Given the description of an element on the screen output the (x, y) to click on. 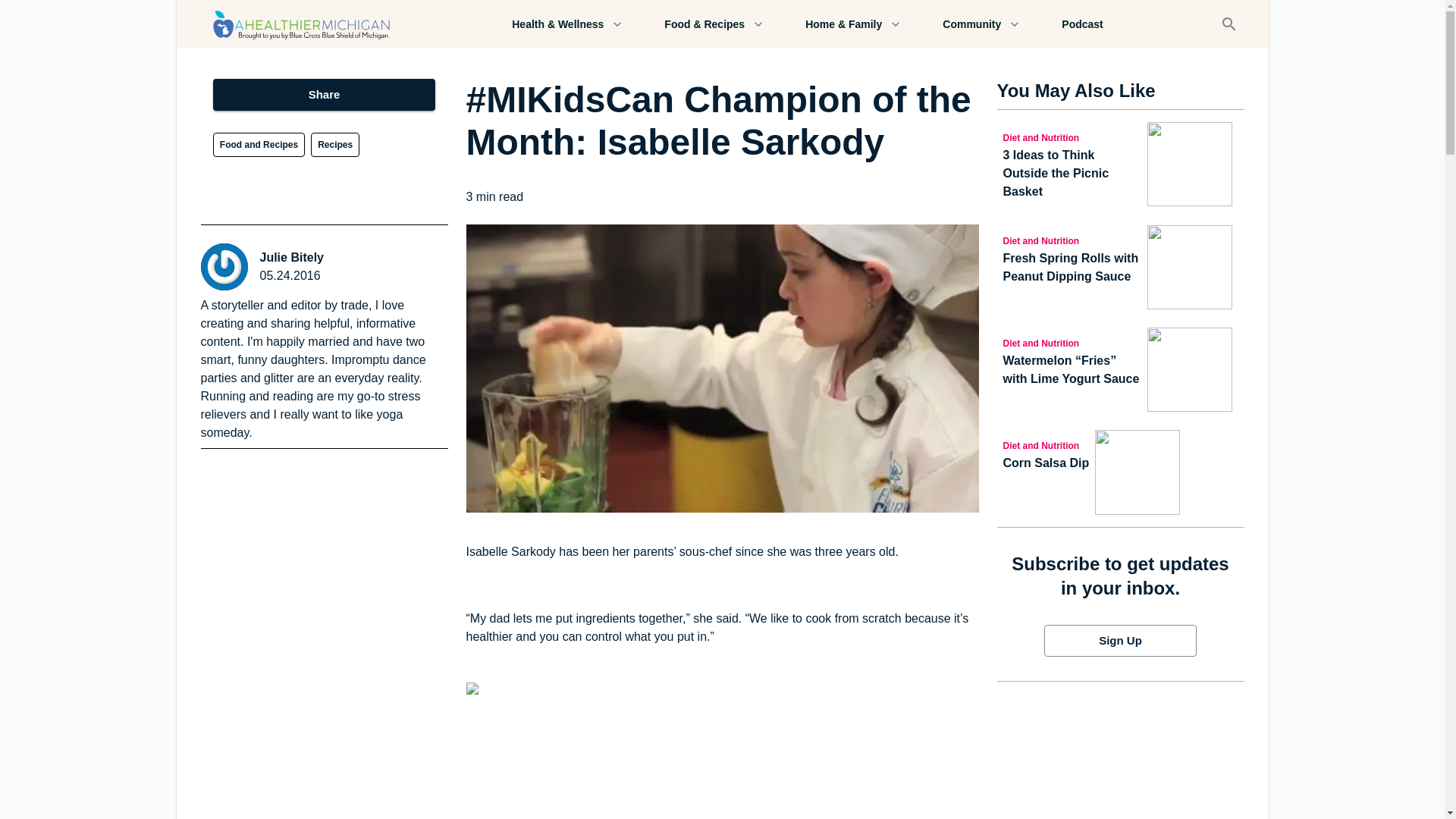
Community (980, 24)
Food and Recipes (258, 144)
Sign Up (1119, 640)
Recipes (335, 144)
Corn Salsa Dip (1046, 463)
3 Ideas to Think Outside the Picnic Basket (1072, 173)
Podcast (1081, 24)
Share (323, 94)
Diet and Nutrition (1072, 239)
Julie Bitely (291, 257)
Diet and Nutrition (1046, 444)
Diet and Nutrition (1072, 136)
Fresh Spring Rolls with Peanut Dipping Sauce (1072, 267)
Diet and Nutrition (1072, 342)
